Given the description of an element on the screen output the (x, y) to click on. 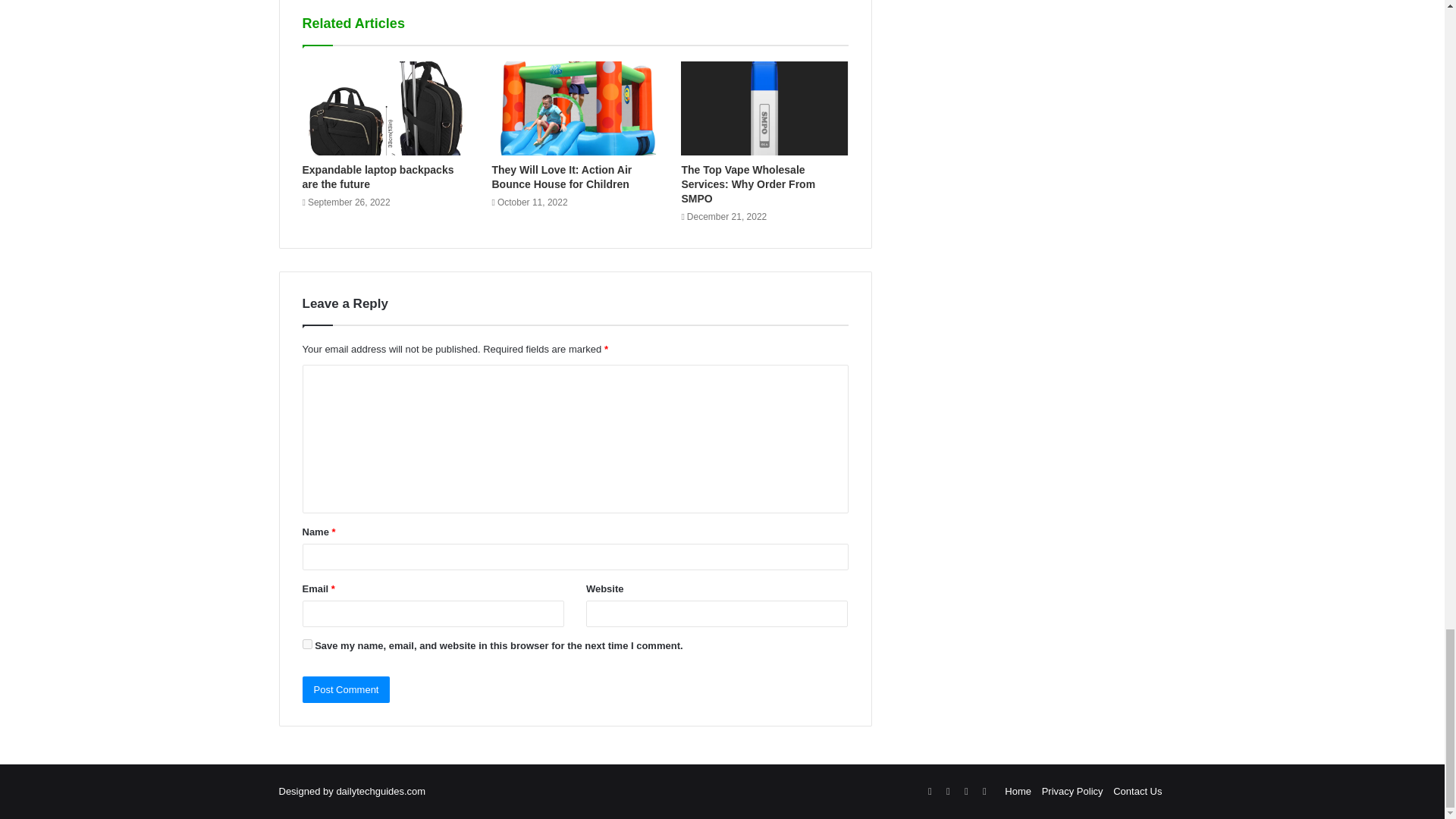
yes (306, 644)
Post Comment (345, 689)
